Given the description of an element on the screen output the (x, y) to click on. 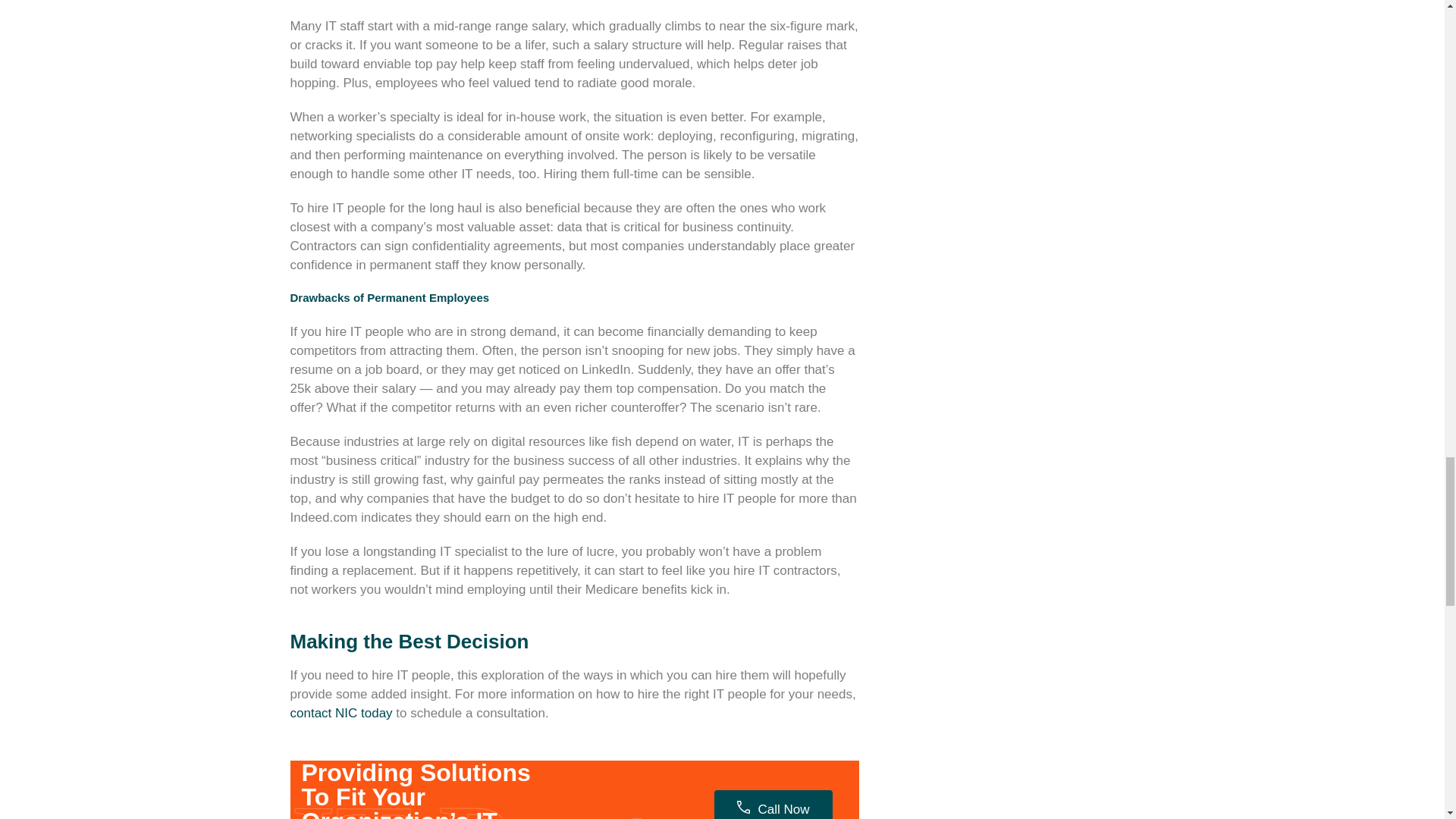
Call Now (772, 804)
contact NIC today (340, 712)
IT Partner (561, 803)
